Given the description of an element on the screen output the (x, y) to click on. 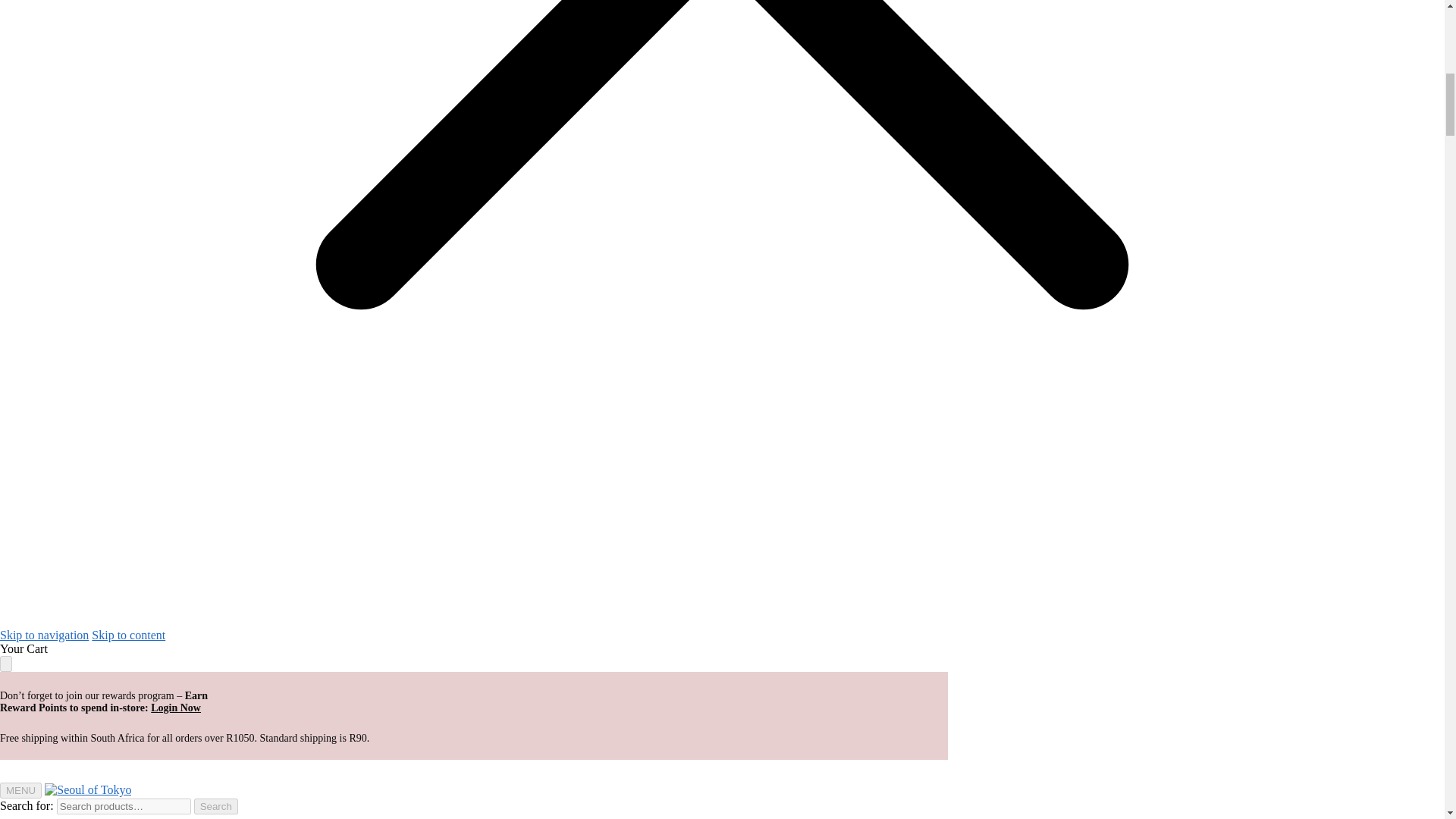
MENU (21, 790)
Login Now (175, 707)
Skip to content (128, 634)
Search (215, 806)
Skip to navigation (44, 634)
